Given the description of an element on the screen output the (x, y) to click on. 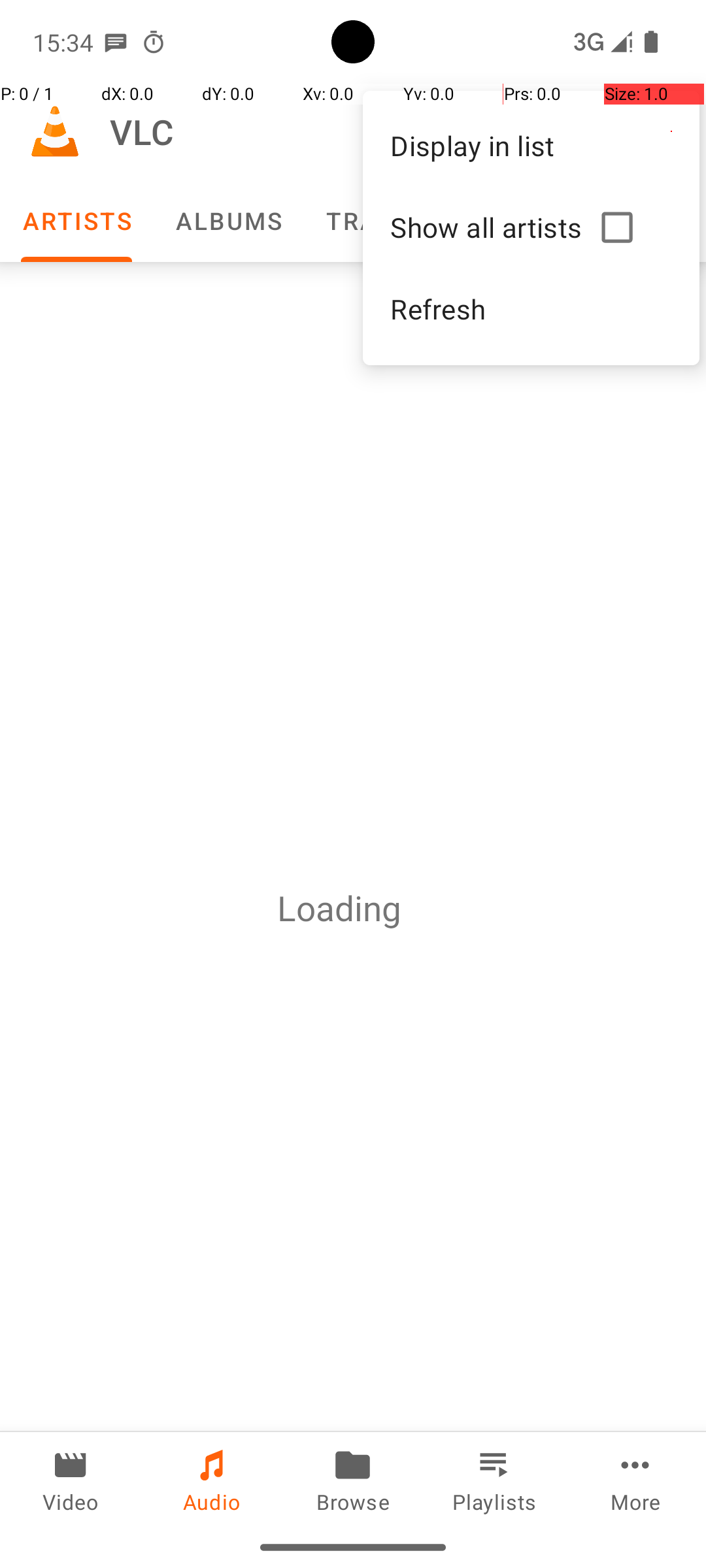
Show all artists Element type: android.widget.TextView (489, 226)
